Given the description of an element on the screen output the (x, y) to click on. 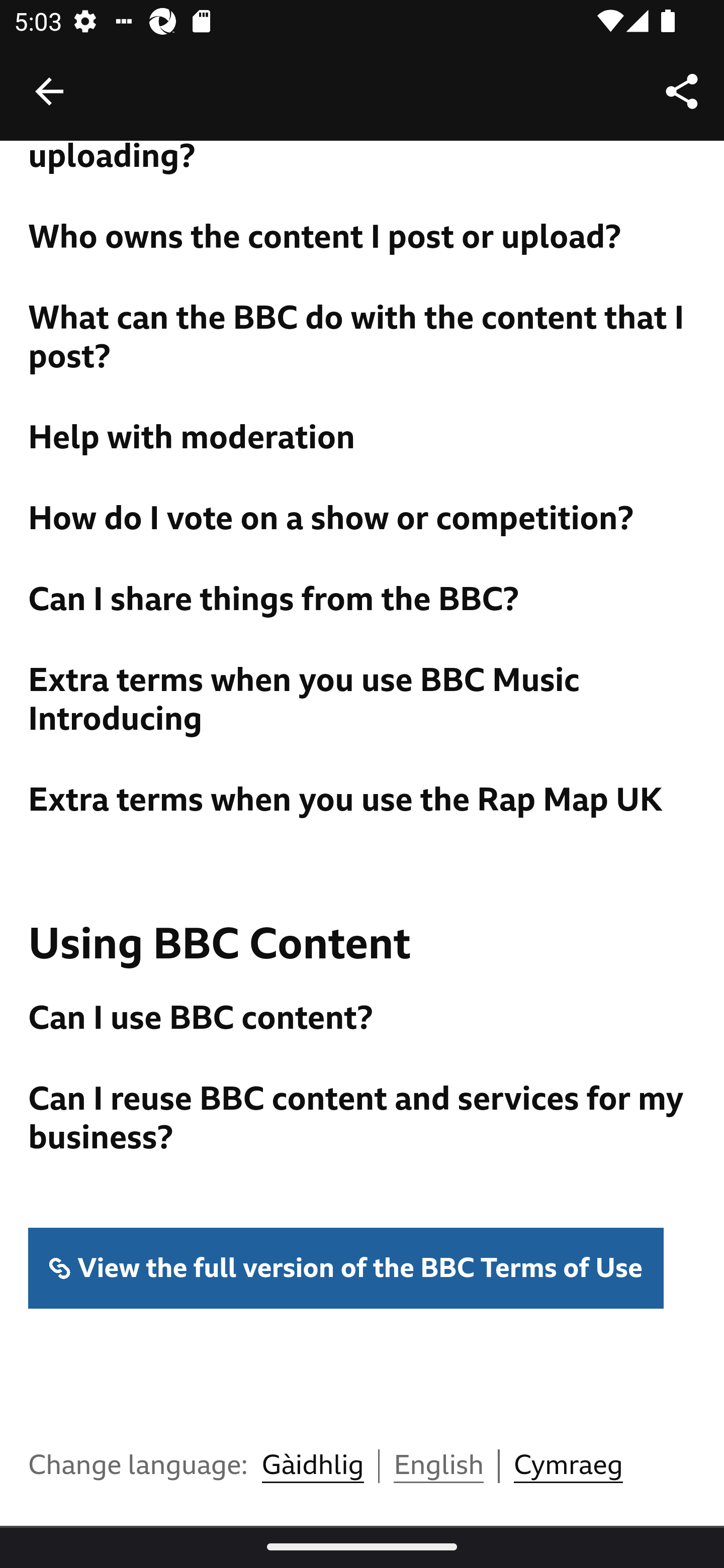
Back (49, 91)
Share (681, 90)
What are the rules for commenting and uploading? (363, 159)
Who owns the content I post or upload? (363, 237)
What can the BBC do with the content that I post? (363, 338)
Help with moderation (363, 438)
How do I vote on a show or competition? (363, 519)
Can I share things from the BBC? (363, 600)
Extra terms when you use BBC Music Introducing (363, 700)
Extra terms when you use the Rap Map UK (363, 800)
Can I use BBC content? (363, 1018)
View the full version of the BBC Terms of Use (346, 1268)
Gàidhlig (312, 1466)
English (438, 1466)
Cymraeg (567, 1466)
